Given the description of an element on the screen output the (x, y) to click on. 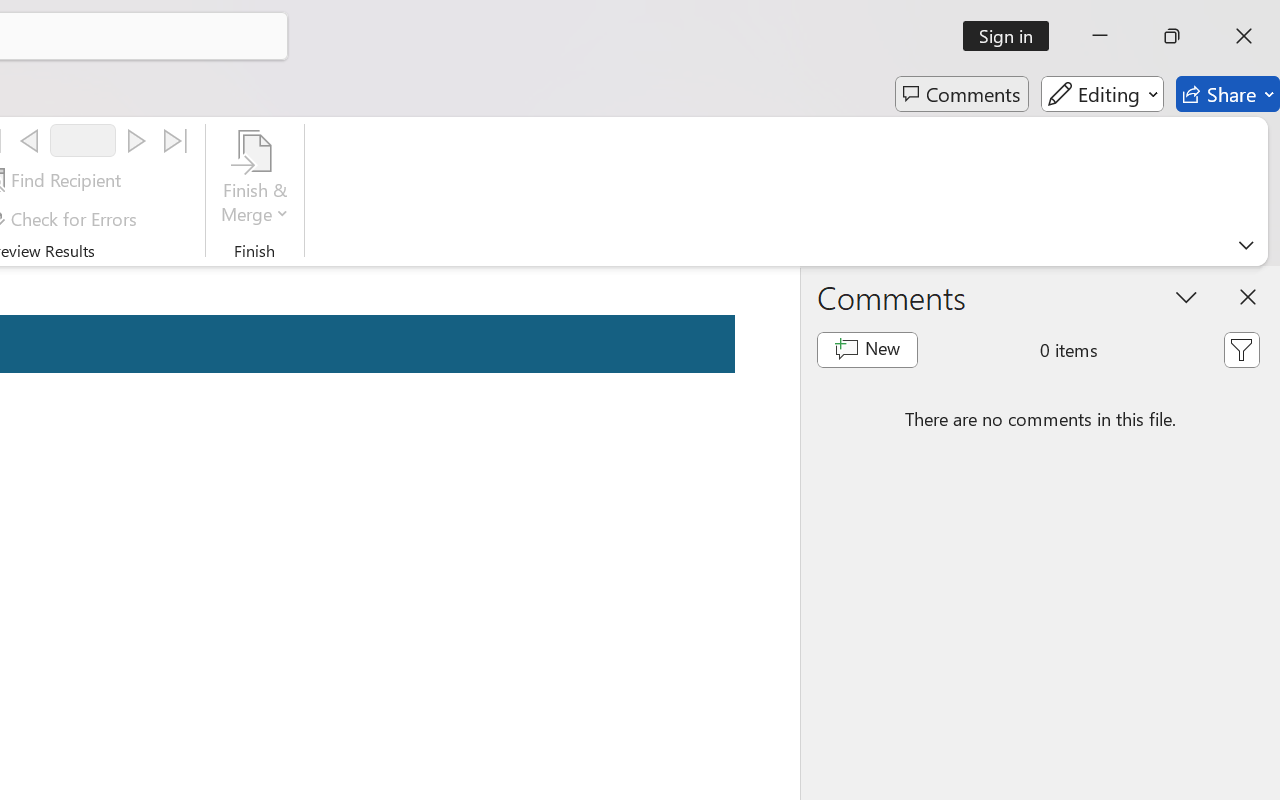
Filter (1241, 350)
